Given the description of an element on the screen output the (x, y) to click on. 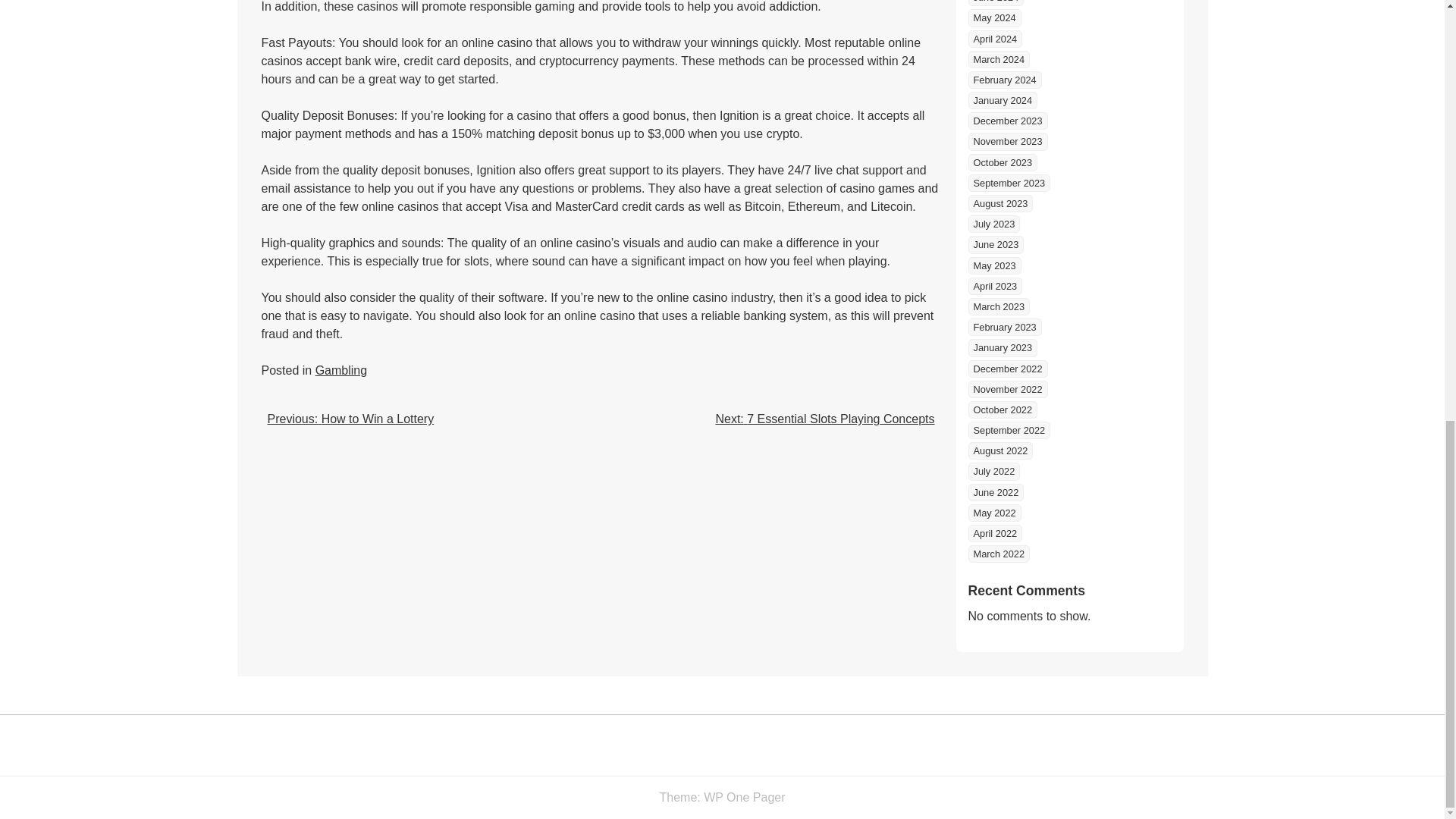
June 2023 (995, 244)
July 2023 (994, 223)
April 2023 (995, 285)
Gambling (340, 369)
February 2024 (1004, 79)
January 2024 (1002, 99)
February 2023 (1004, 326)
December 2022 (1007, 368)
November 2023 (1007, 140)
January 2023 (1002, 347)
